Given the description of an element on the screen output the (x, y) to click on. 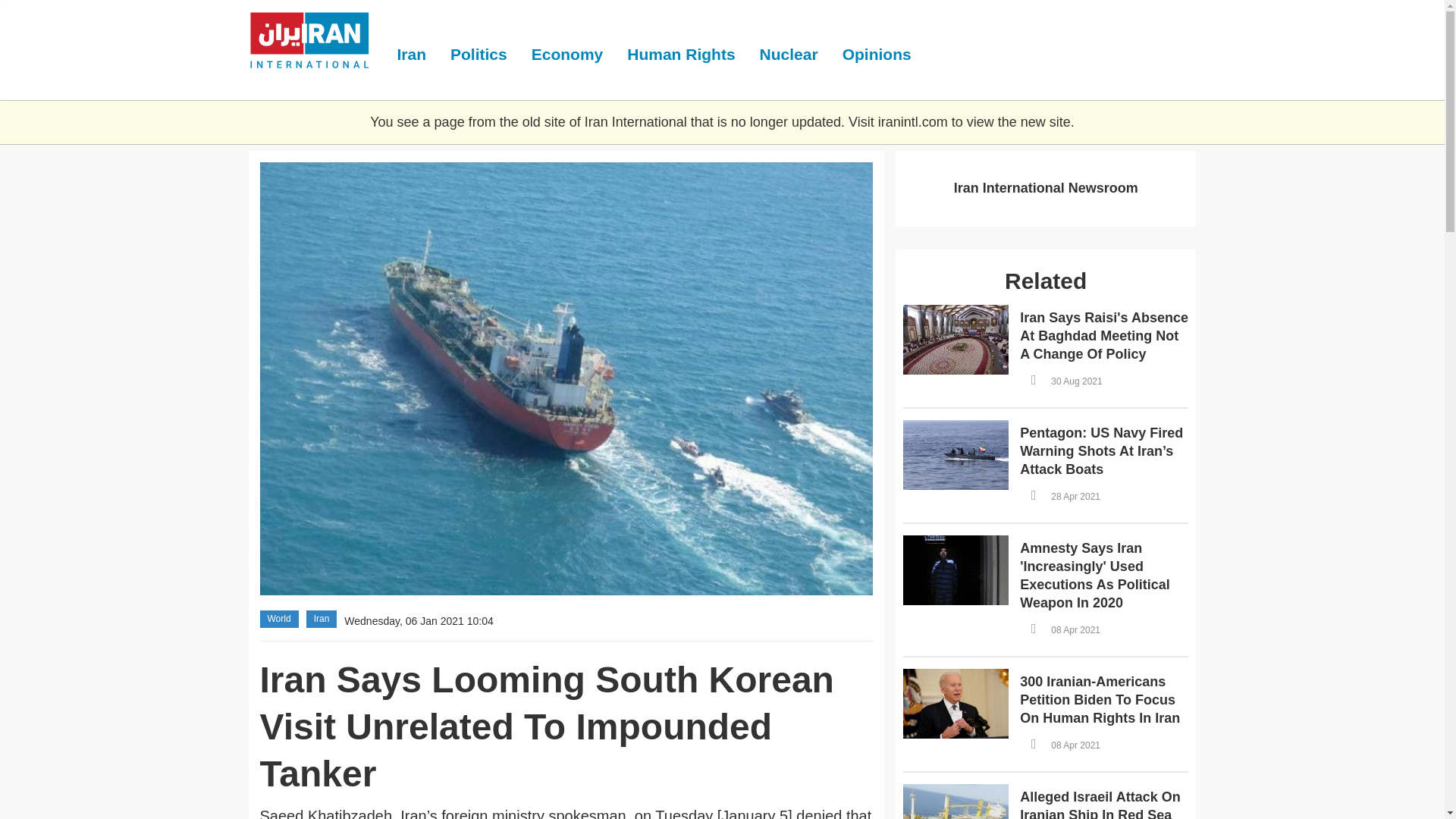
Opinions (876, 54)
tankorino.jpg (324, 174)
Home (316, 42)
Iran (322, 618)
Economy (567, 54)
World (277, 618)
Politics (478, 54)
Human Rights (680, 54)
